Given the description of an element on the screen output the (x, y) to click on. 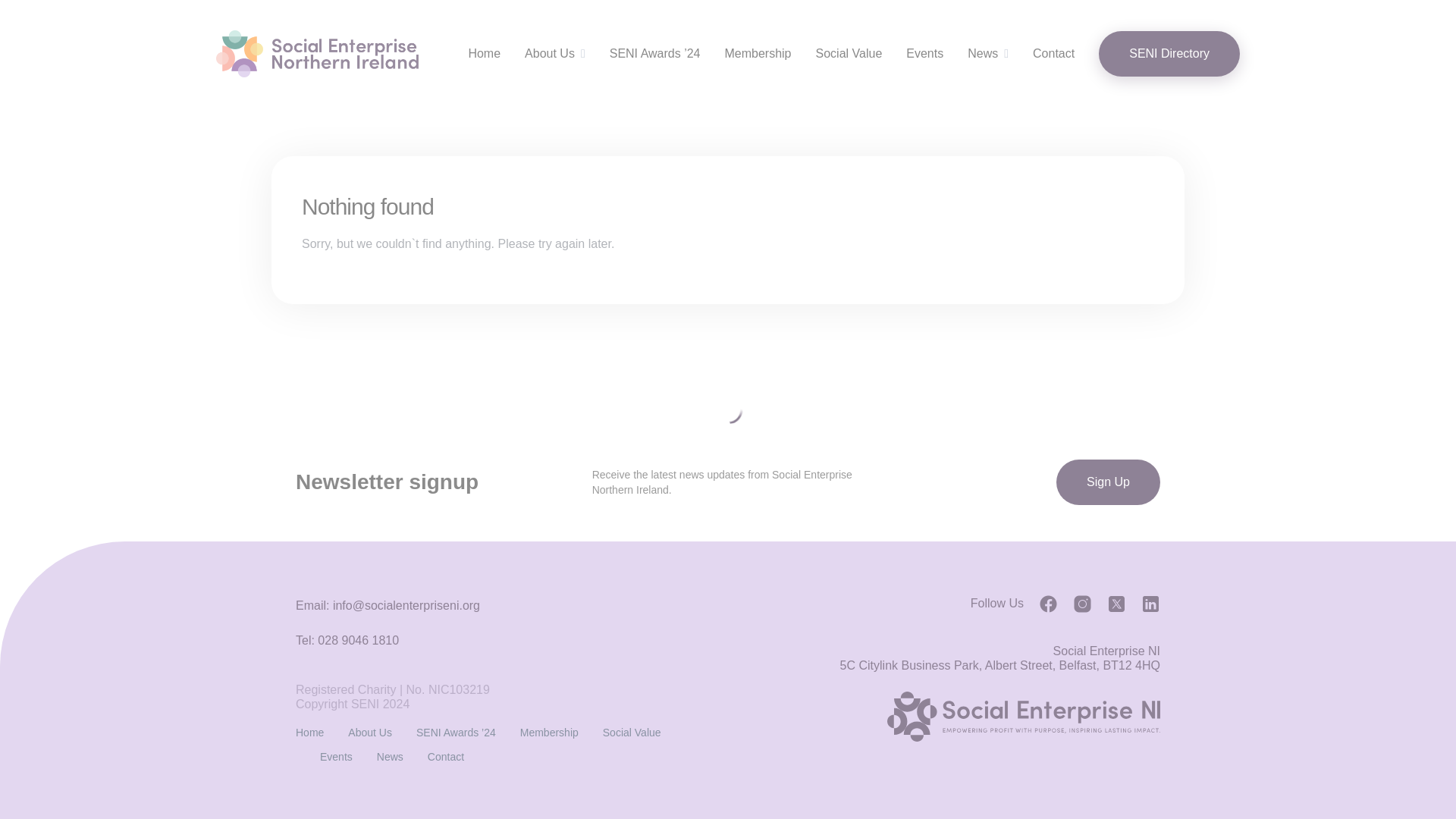
Sign Up (1108, 482)
Home (309, 732)
Social Value (848, 54)
News (982, 54)
Membership (548, 732)
Tel: 028 9046 1810 (346, 640)
Events (924, 54)
About Us (369, 732)
Events (336, 756)
Contact (446, 756)
